Given the description of an element on the screen output the (x, y) to click on. 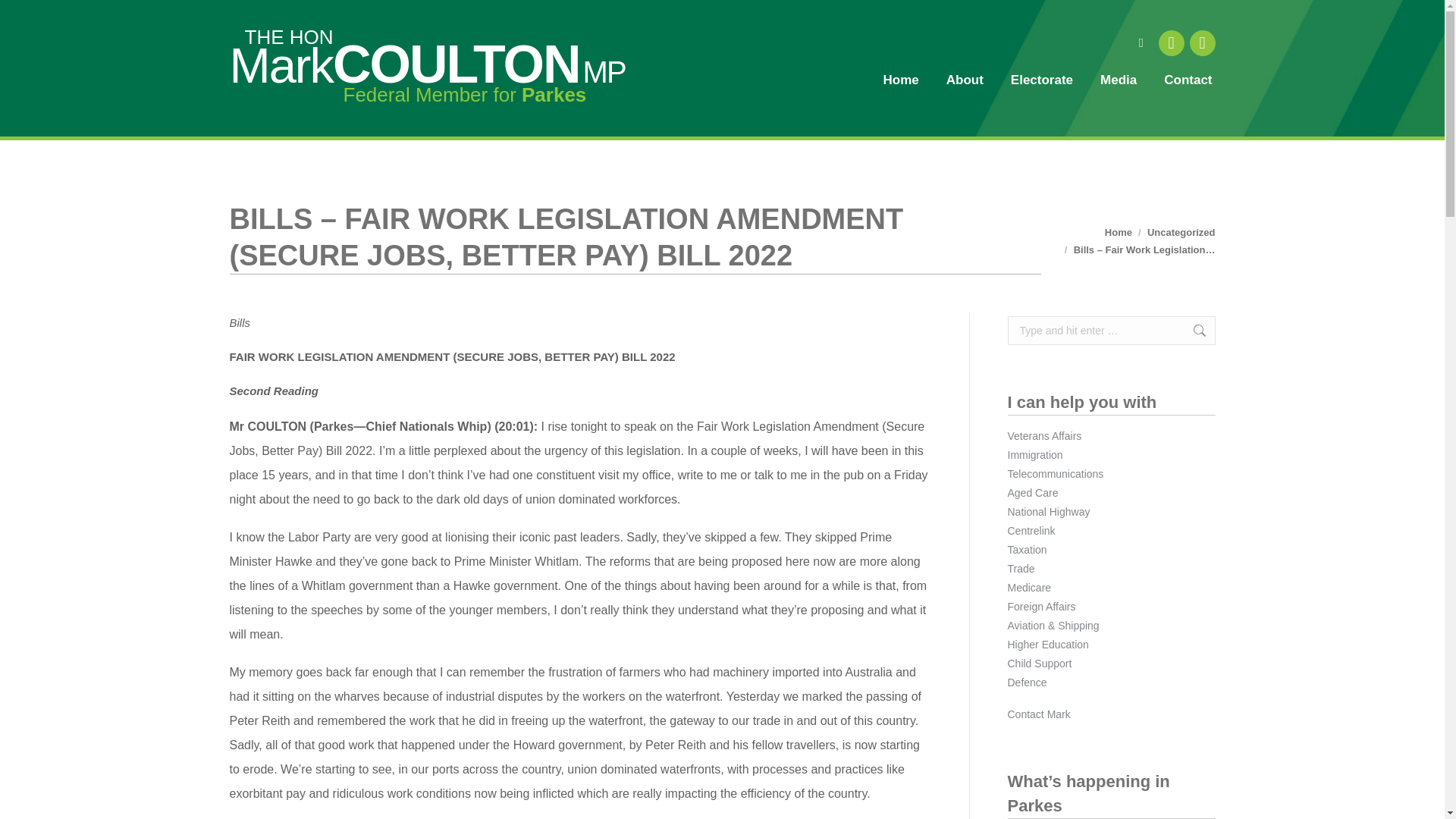
Facebook page opens in new window (1171, 43)
Home (1118, 231)
Mail page opens in new window (1201, 43)
Mail page opens in new window (1201, 43)
Facebook page opens in new window (1171, 43)
Uncategorized (1181, 231)
Go! (24, 16)
Go! (1191, 330)
Go! (1191, 330)
